Given the description of an element on the screen output the (x, y) to click on. 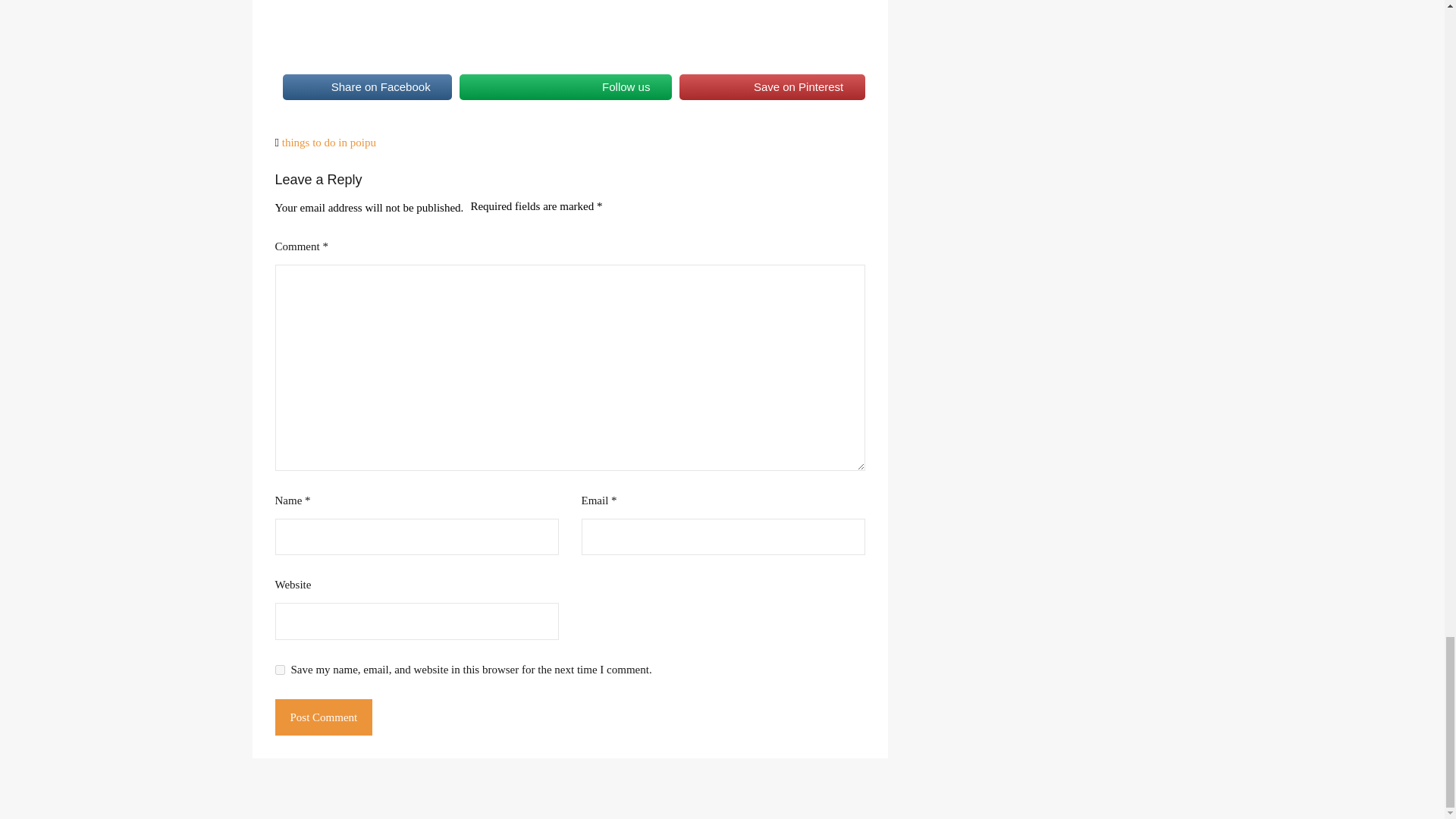
yes (279, 669)
YouTube video player (486, 24)
Post Comment (323, 717)
